Given the description of an element on the screen output the (x, y) to click on. 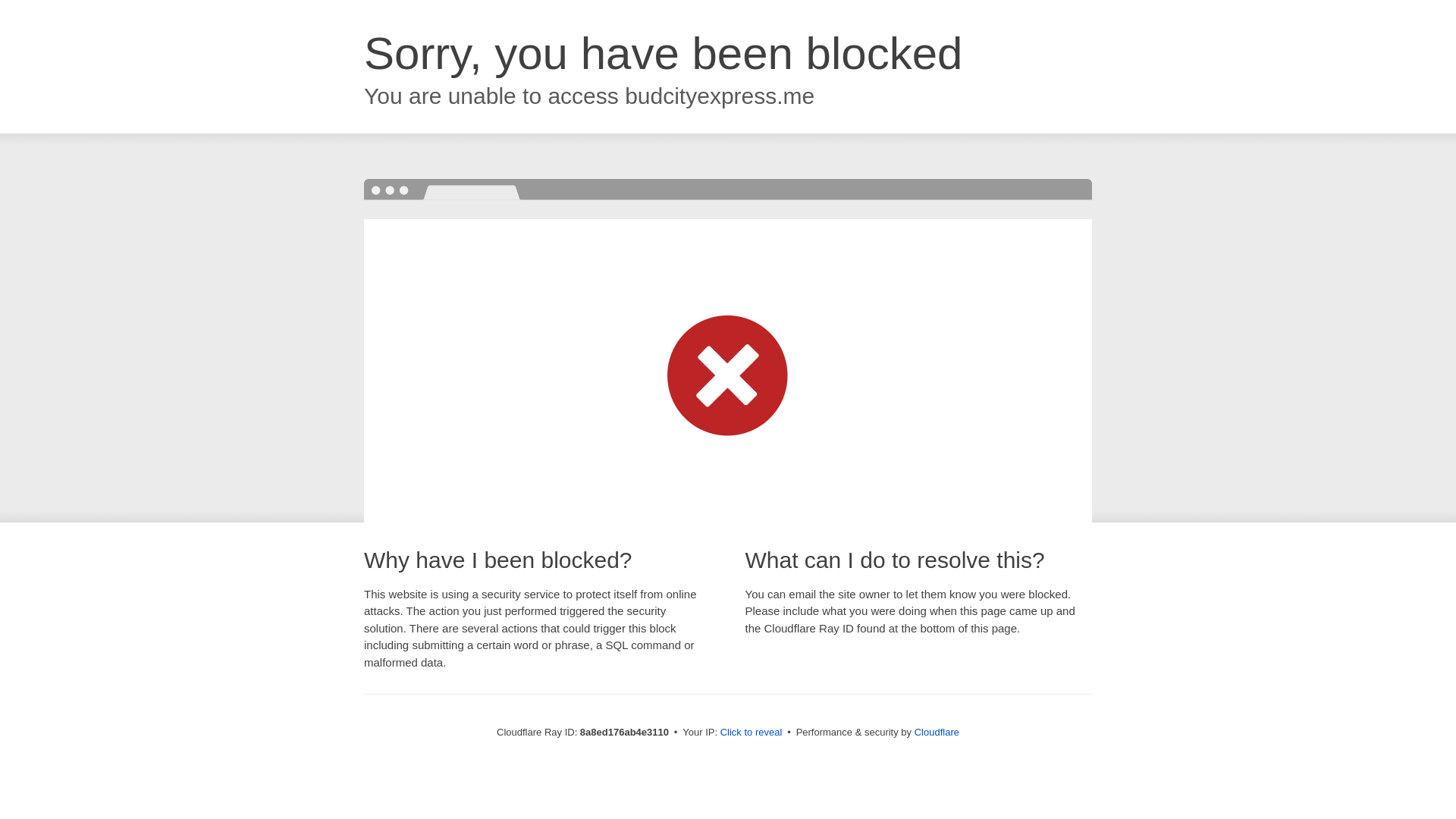
Click to reveal (751, 732)
Cloudflare (936, 731)
